Given the description of an element on the screen output the (x, y) to click on. 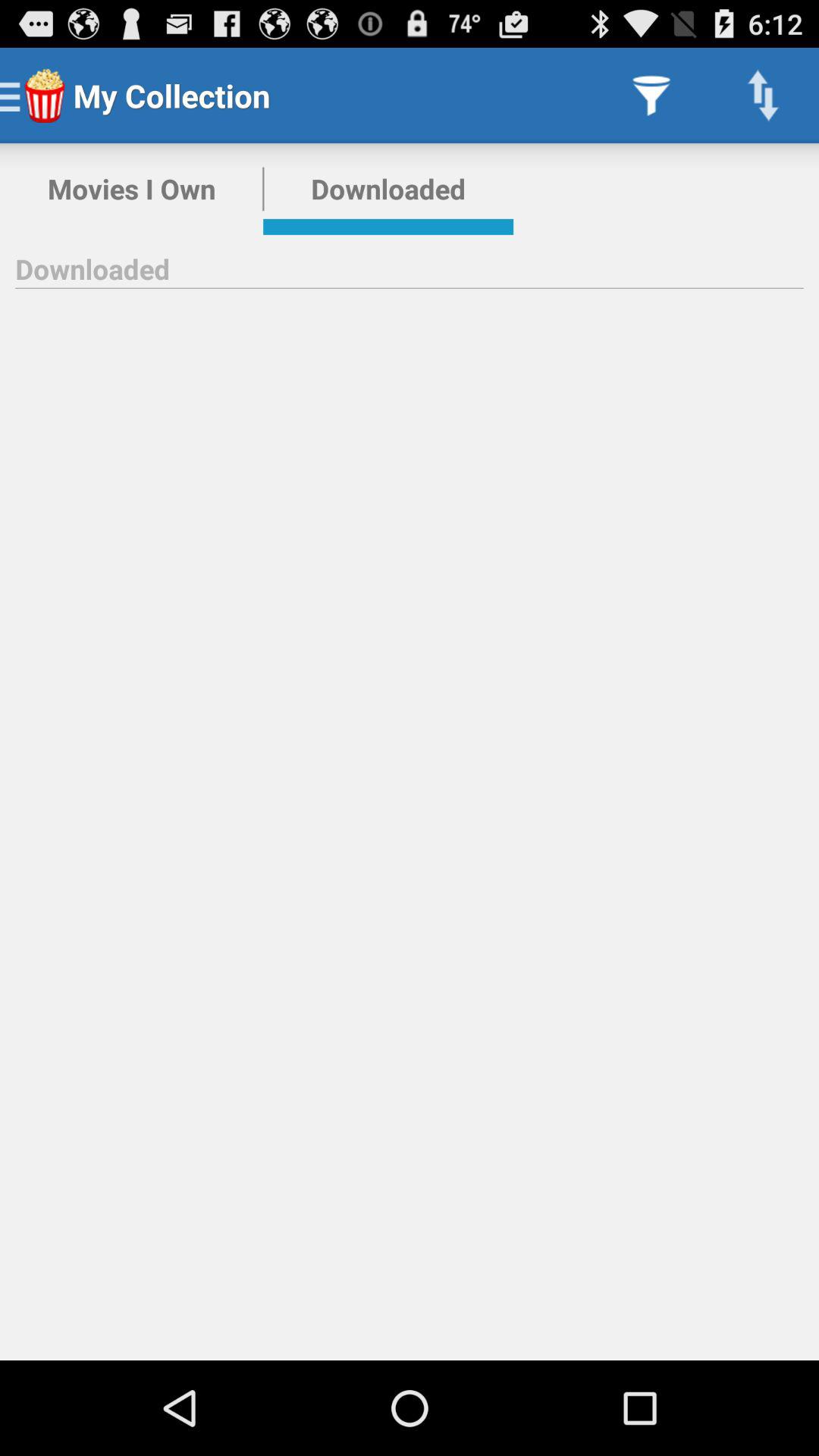
select app next to the downloaded item (651, 95)
